Given the description of an element on the screen output the (x, y) to click on. 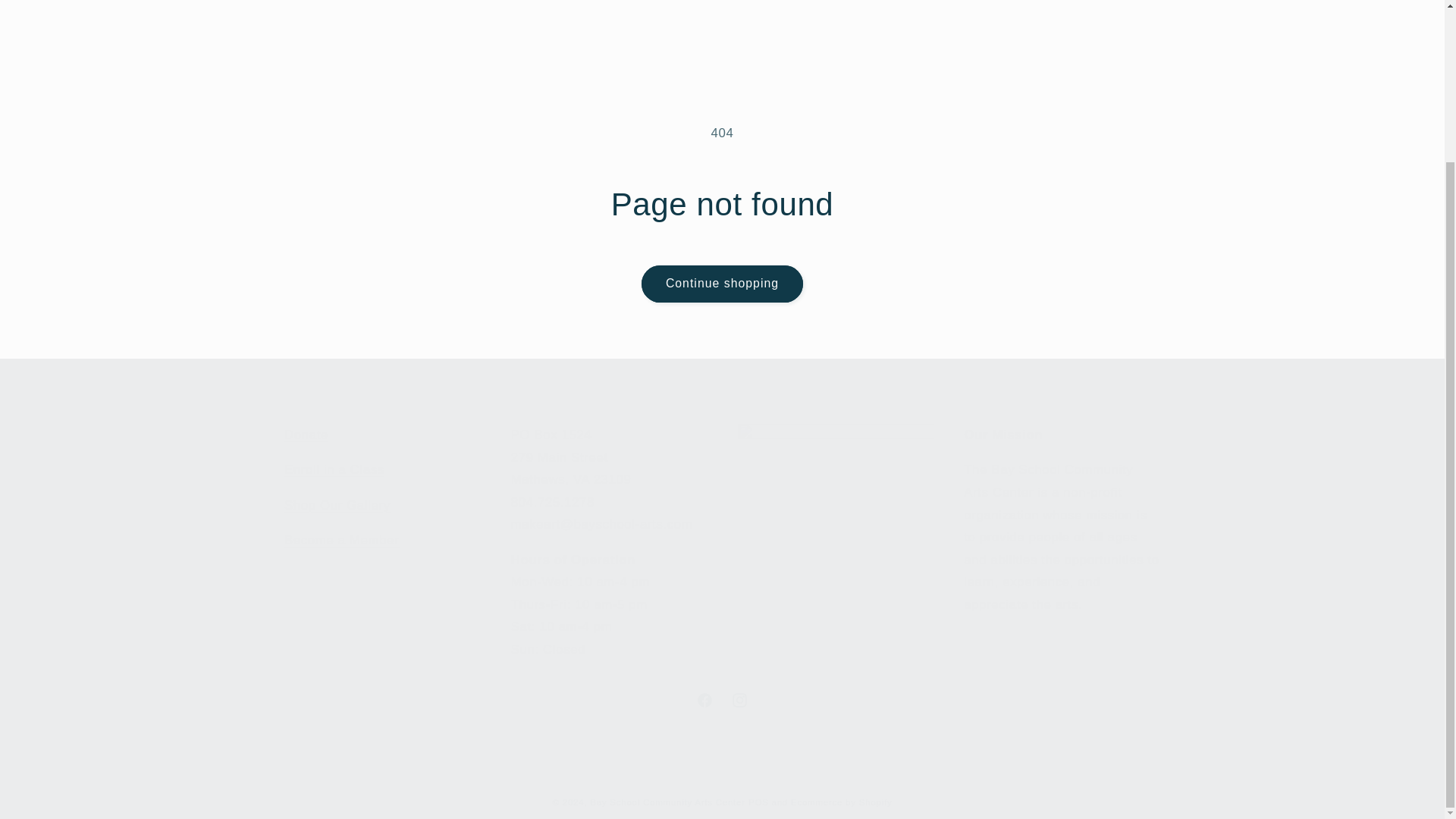
Art Speaks Gallery (721, 700)
